Given the description of an element on the screen output the (x, y) to click on. 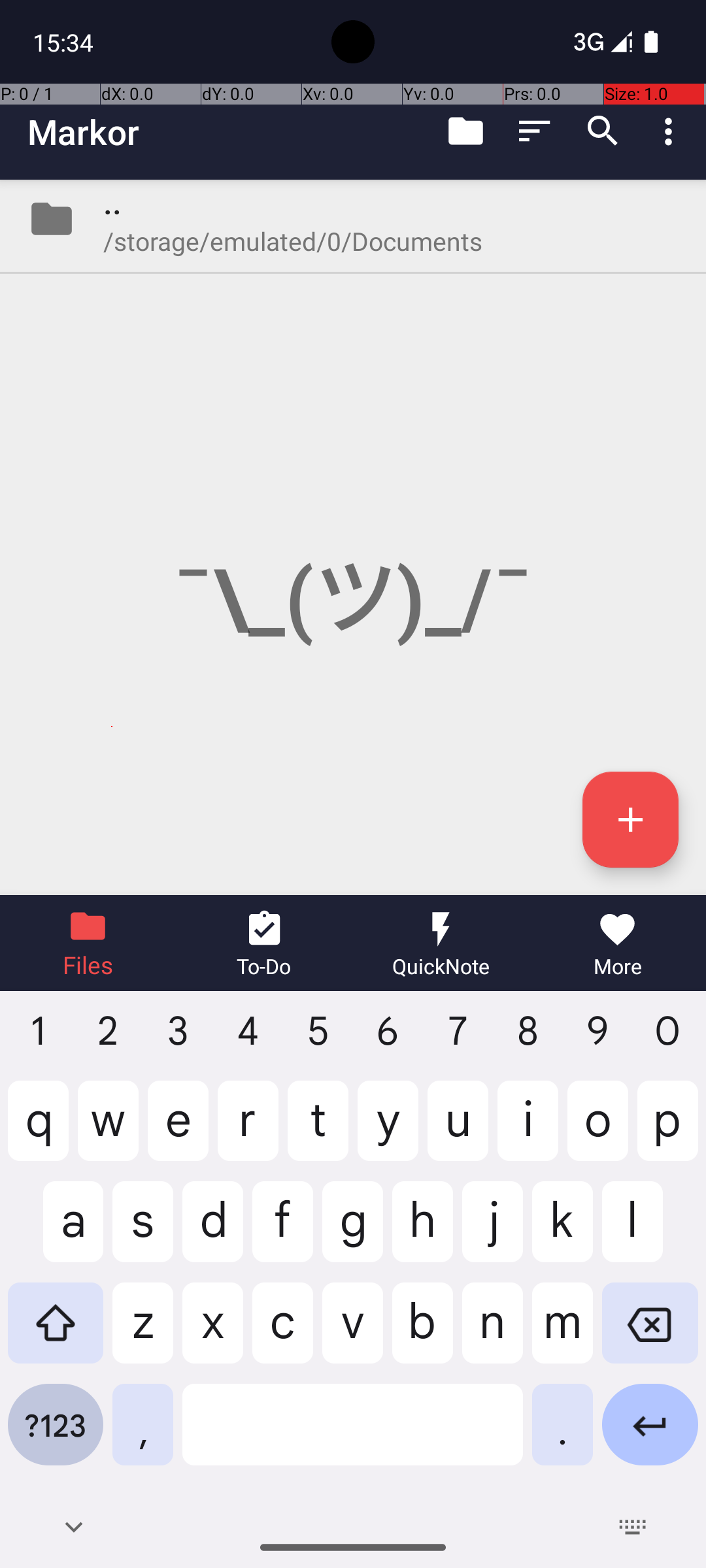
¯\_(ツ)_/¯ Element type: android.widget.TextView (353, 537)
